Given the description of an element on the screen output the (x, y) to click on. 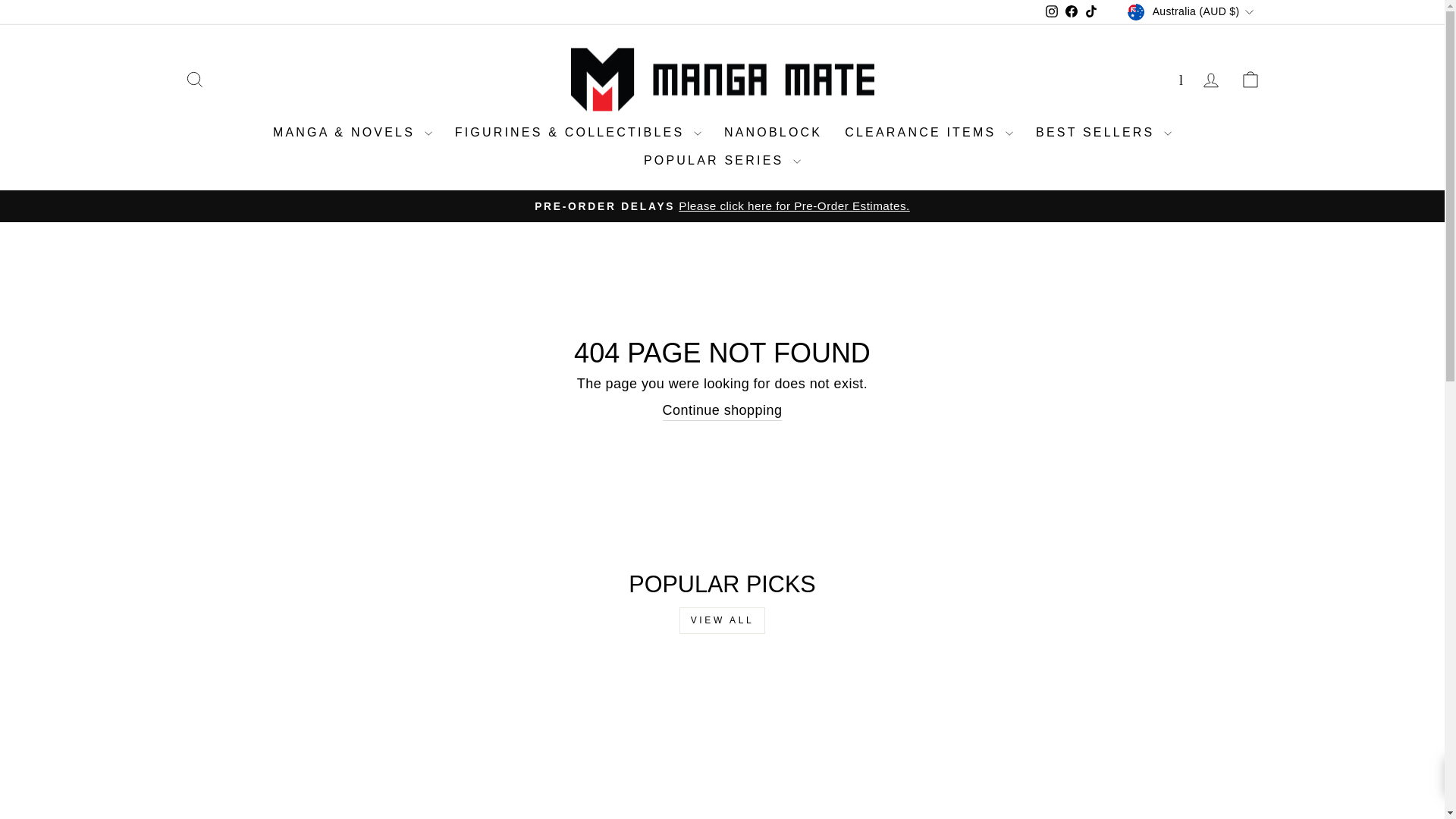
ACCOUNT (1210, 79)
ICON-SEARCH (194, 79)
ICON-BAG-MINIMAL (1249, 79)
instagram (1051, 10)
